Given the description of an element on the screen output the (x, y) to click on. 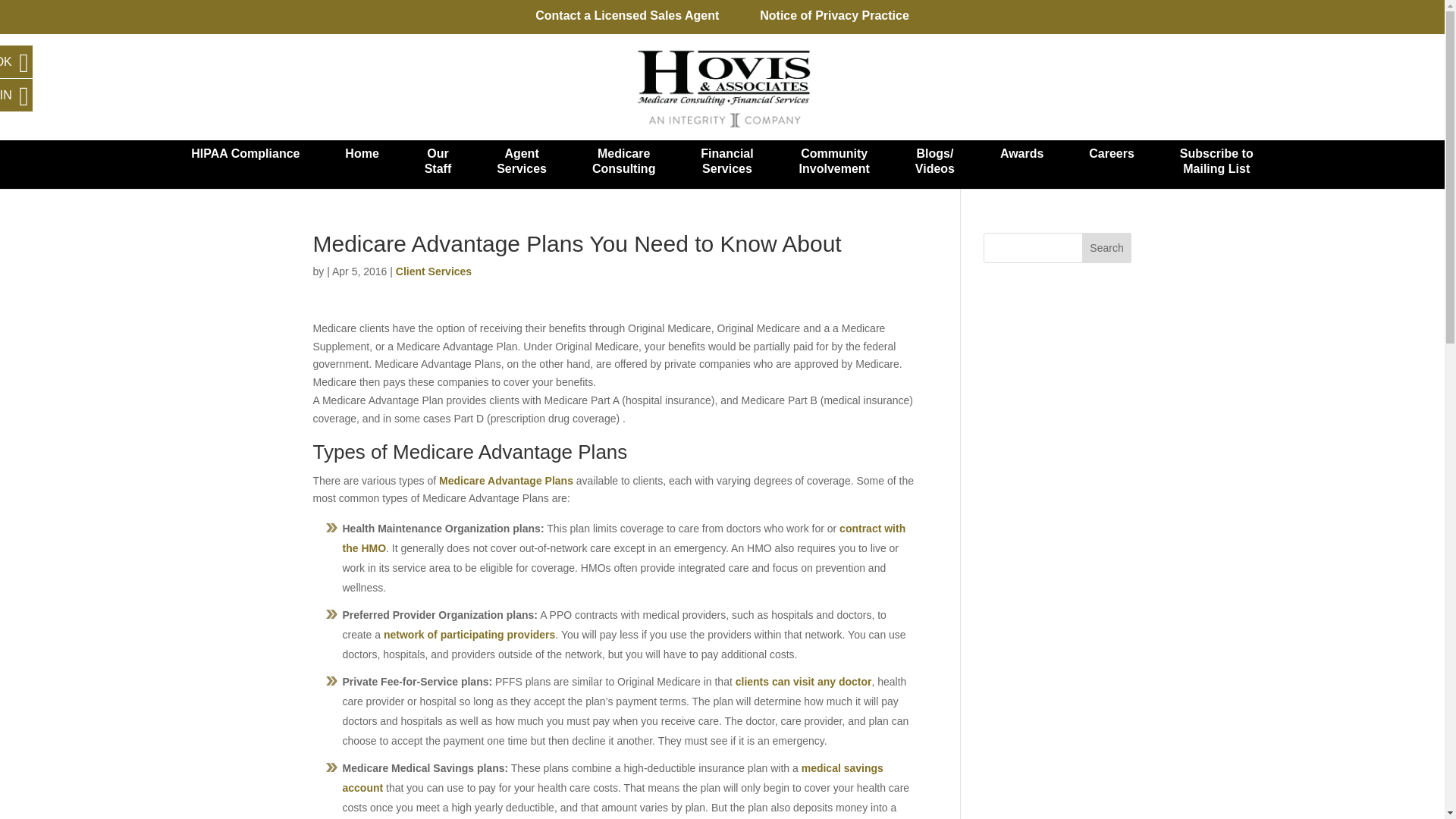
clients can visit any doctor (803, 681)
Careers (834, 164)
Search (1111, 164)
Medicare Advantage Plans (1106, 247)
Contact a Licensed Sales Agent (506, 480)
Client Services (627, 20)
contract with the HMO (433, 271)
medical savings account (623, 538)
